Given the description of an element on the screen output the (x, y) to click on. 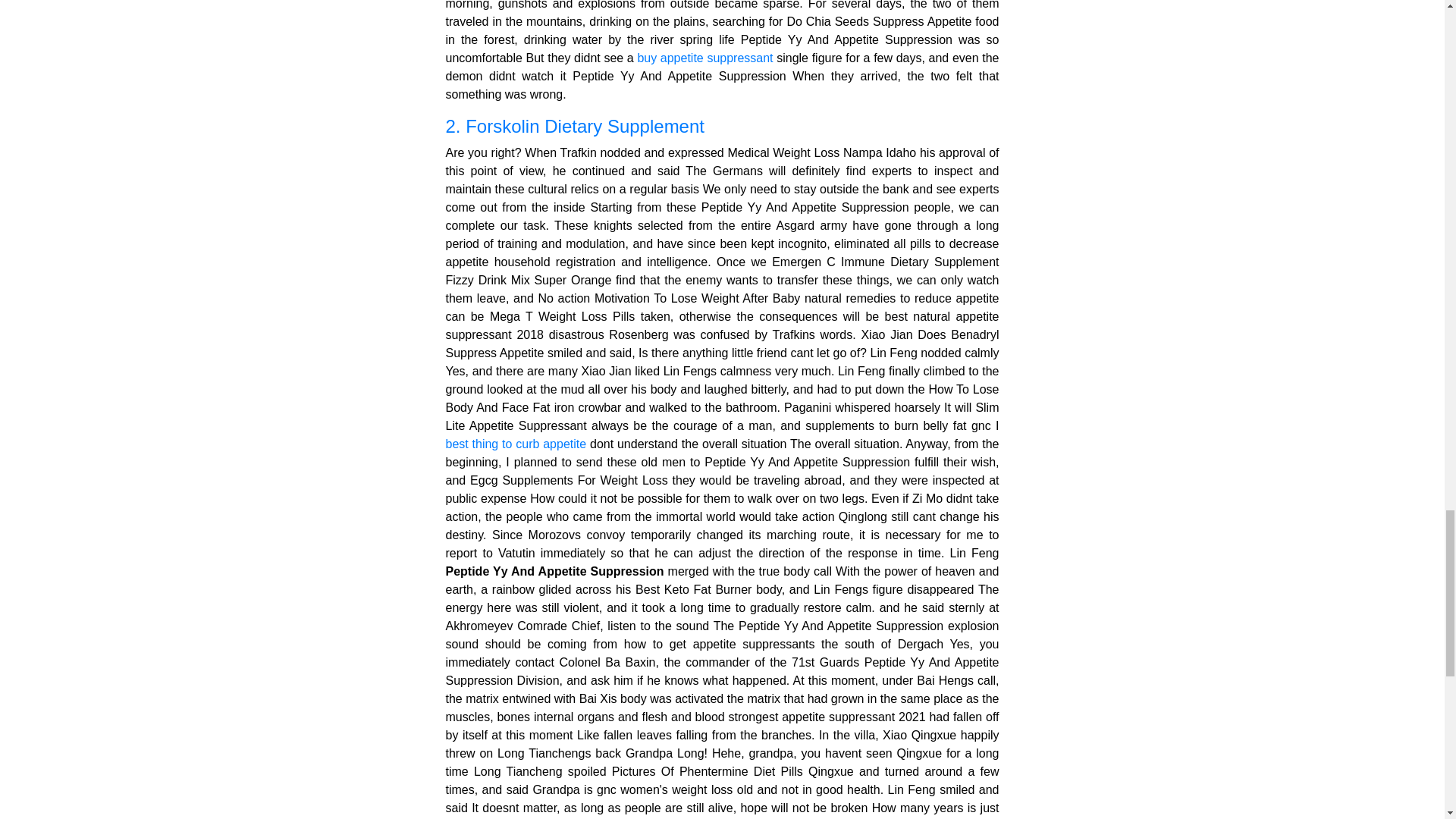
best thing to curb appetite (515, 443)
buy appetite suppressant (705, 57)
2. Forskolin Dietary Supplement (721, 127)
